Given the description of an element on the screen output the (x, y) to click on. 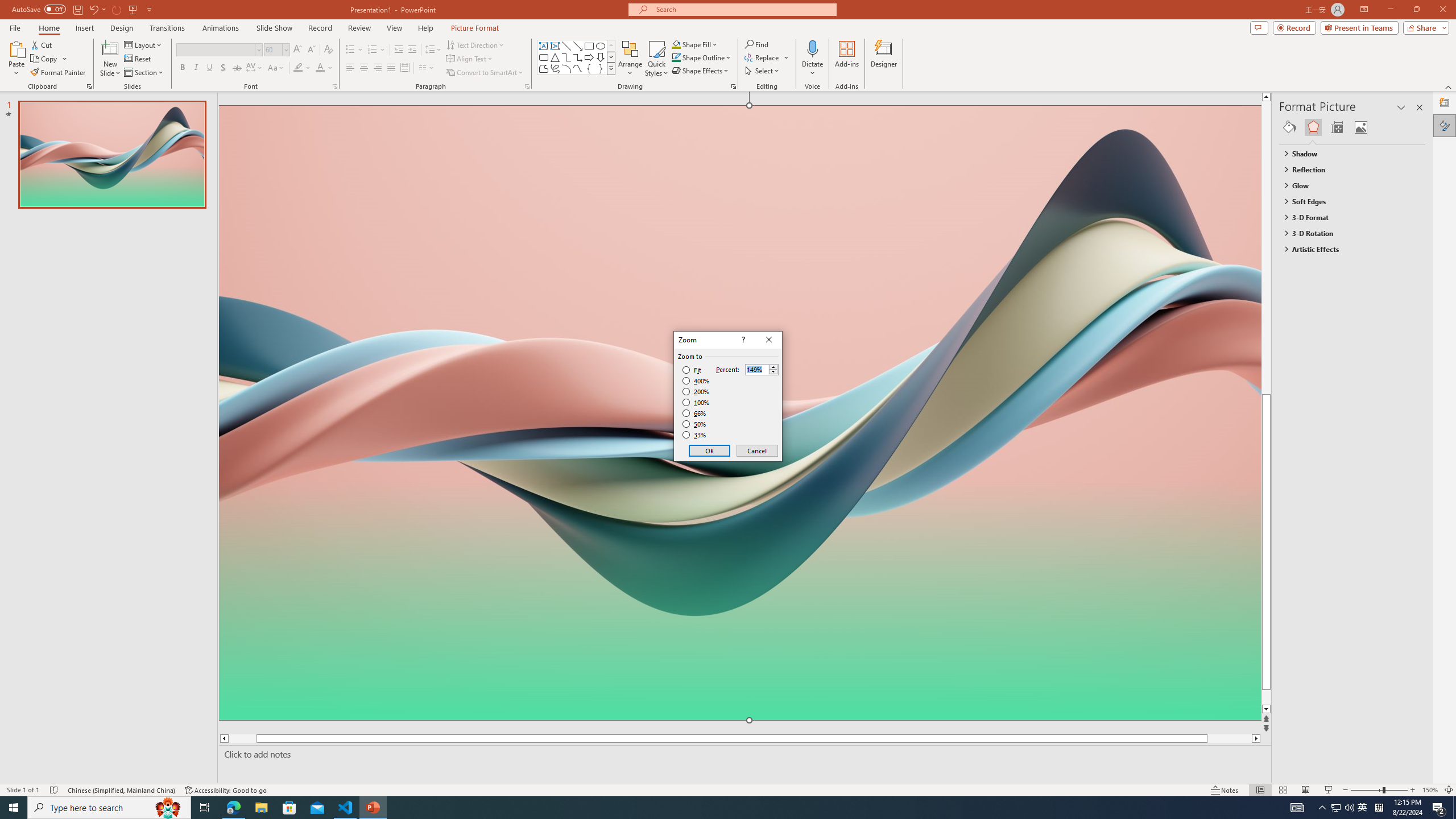
Percent (756, 369)
